Given the description of an element on the screen output the (x, y) to click on. 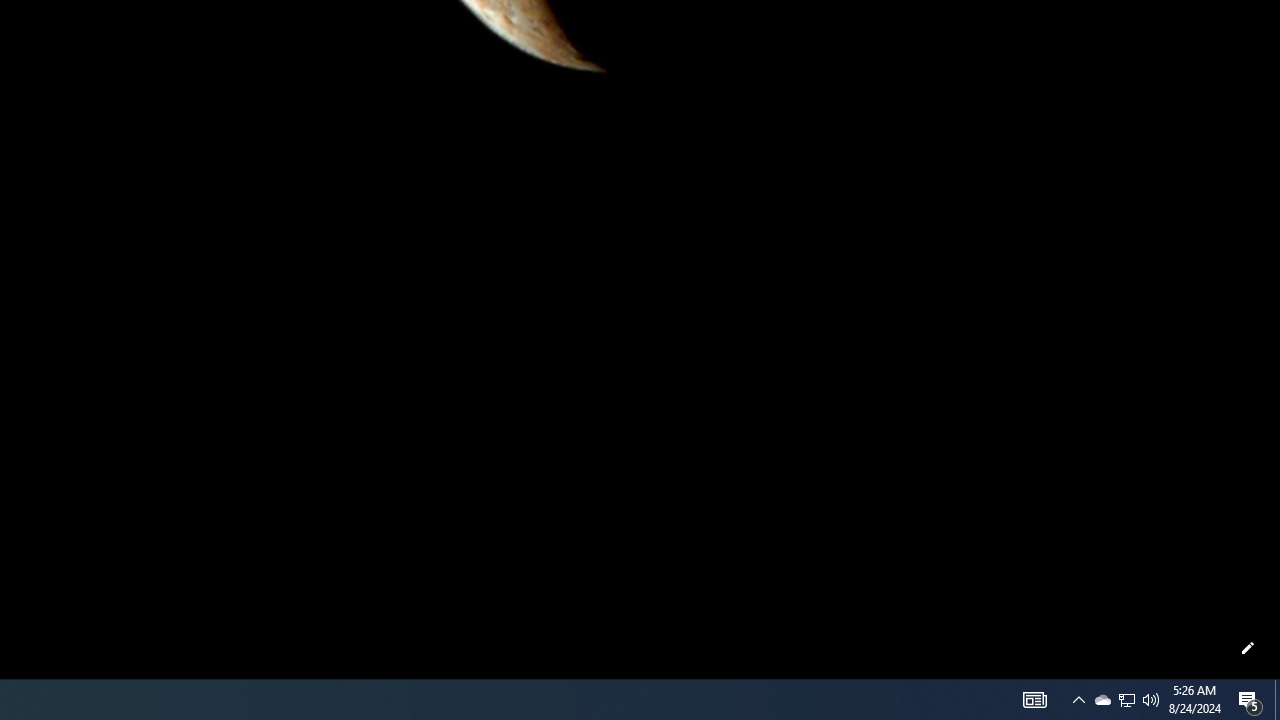
Customize this page (1247, 647)
